Given the description of an element on the screen output the (x, y) to click on. 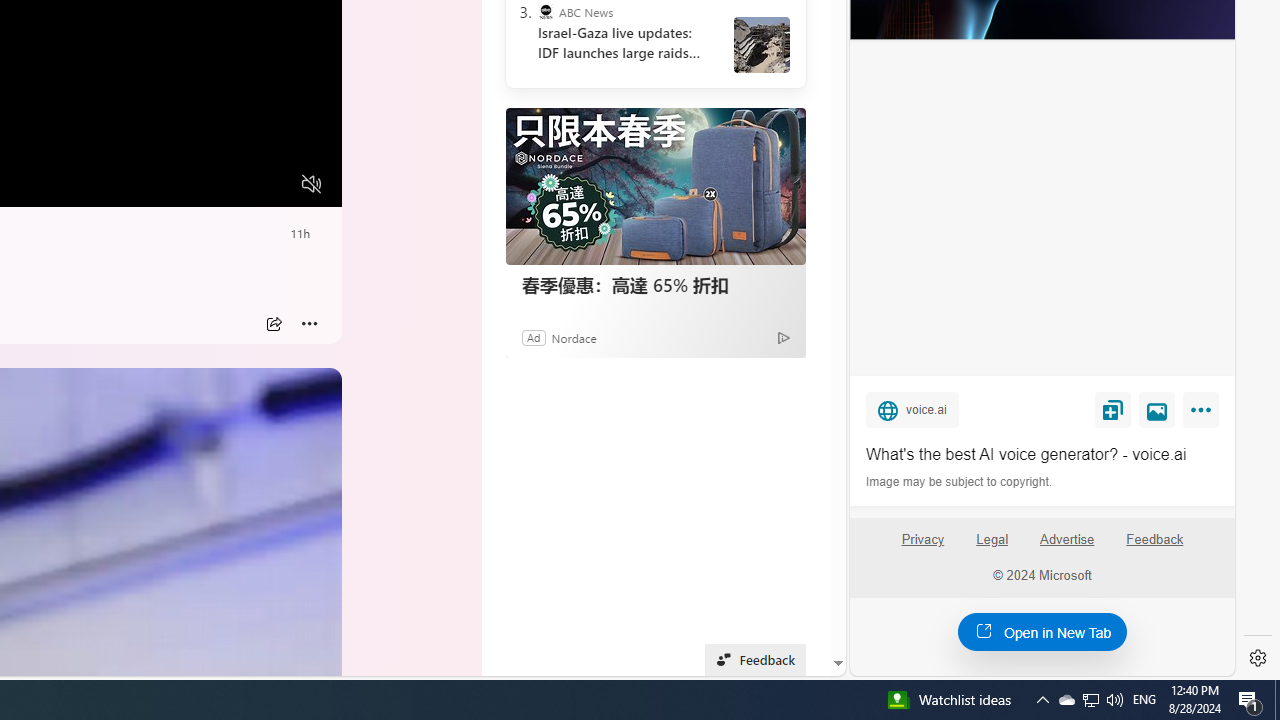
Open in New Tab (1042, 631)
Image may be subject to copyright. (959, 481)
Advertise (1066, 539)
Share (274, 324)
Save (1112, 409)
More (1204, 413)
More (310, 324)
voice.ai (912, 409)
Privacy (922, 547)
Legal (991, 539)
